Given the description of an element on the screen output the (x, y) to click on. 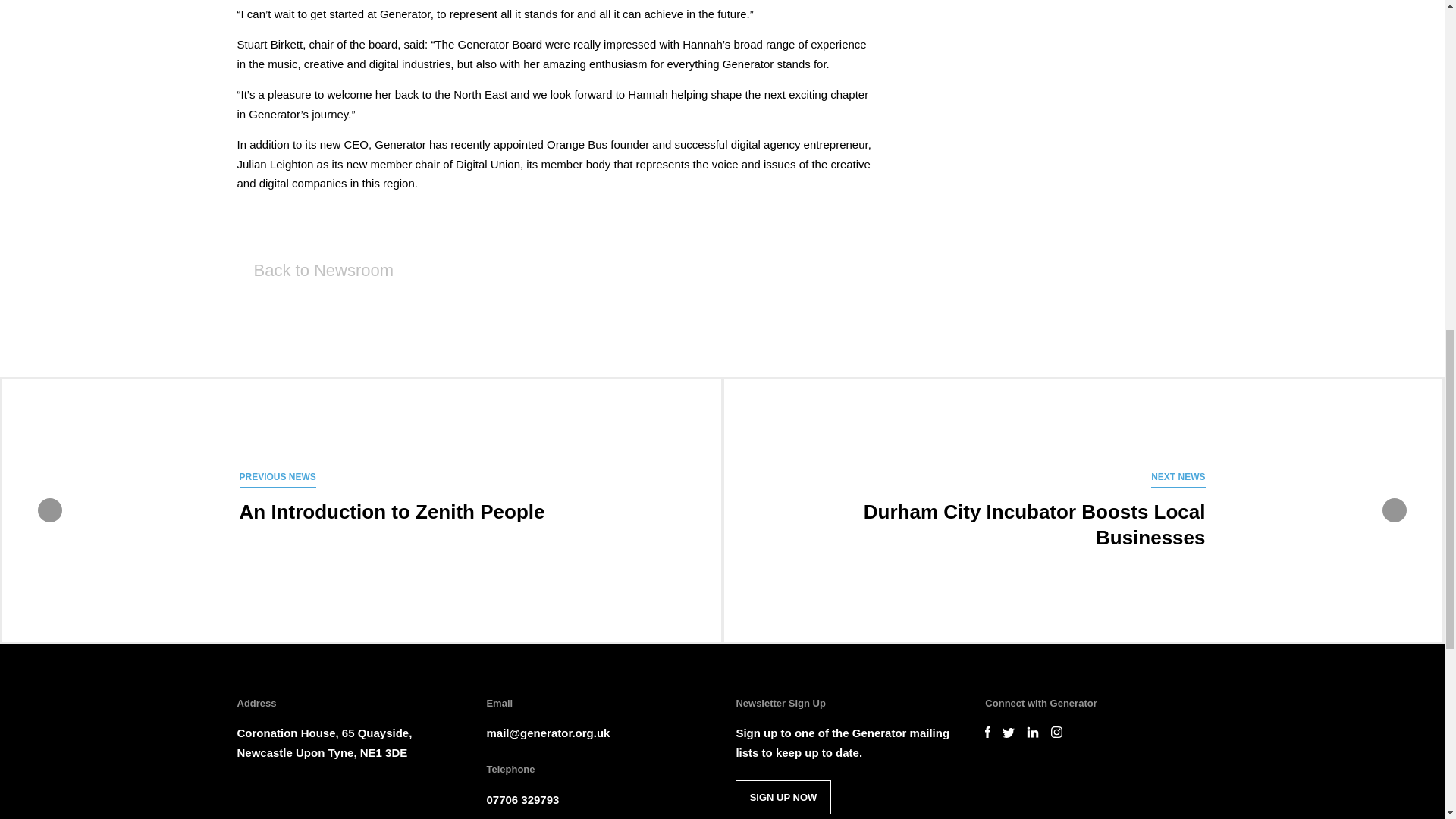
SIGN UP NOW (782, 797)
Return to the Newsroom (314, 270)
Sign up to receive Generator updates (782, 797)
Back to Newsroom (314, 270)
